Given the description of an element on the screen output the (x, y) to click on. 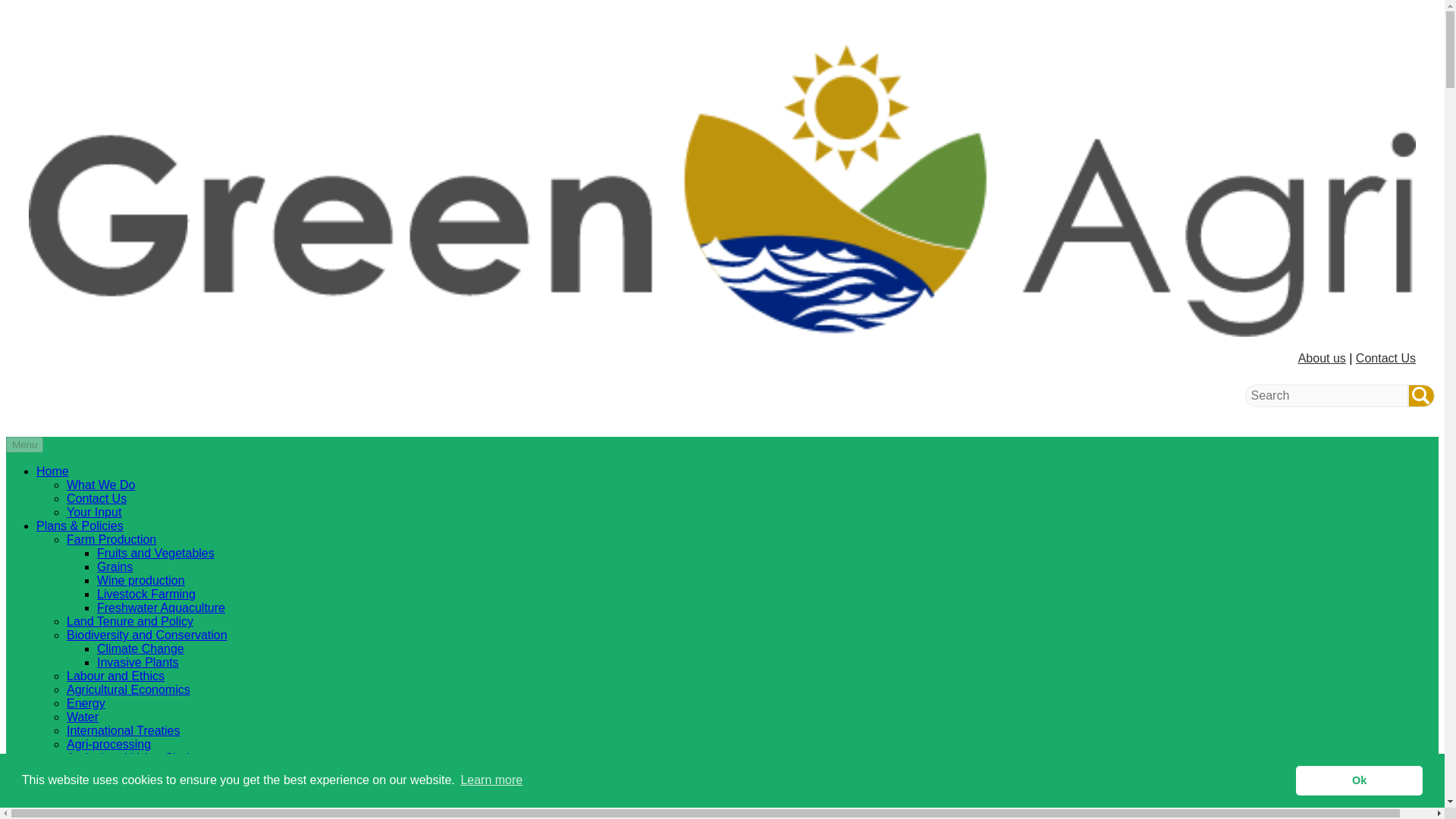
Livestock Farming (146, 594)
What We Do (100, 484)
Wine production (140, 580)
Agricultural Value Chain (130, 757)
About us (1321, 358)
Your Input (93, 512)
Invasive Plants (138, 662)
Menu (24, 444)
Freshwater Aquaculture (161, 607)
Agri Resilience (76, 771)
International Treaties (122, 730)
Home (52, 471)
Agricultural Economics (128, 689)
Agri-processing (108, 744)
Fruits and Vegetables (155, 553)
